Given the description of an element on the screen output the (x, y) to click on. 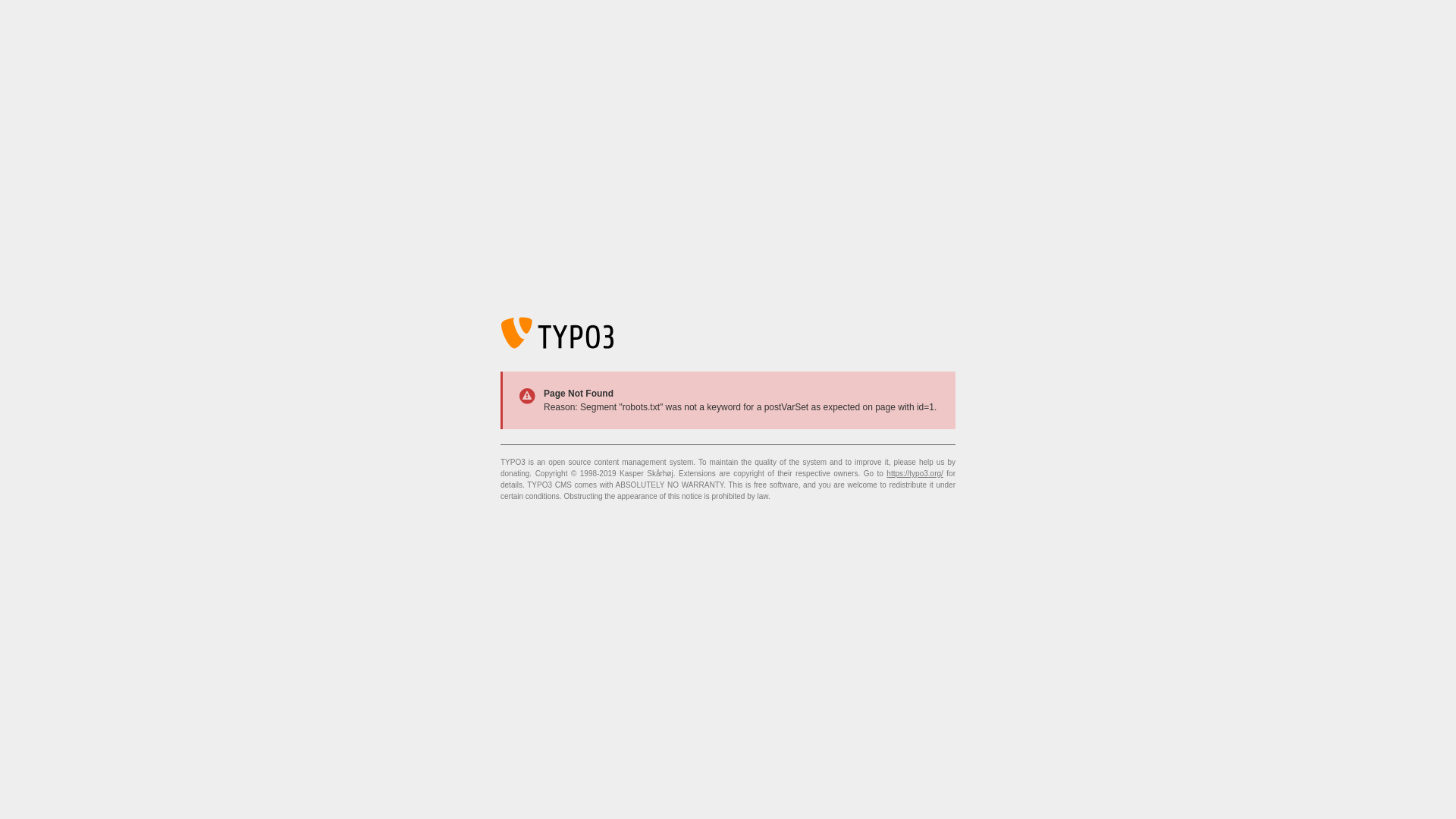
https://typo3.org/ Element type: text (914, 473)
